Given the description of an element on the screen output the (x, y) to click on. 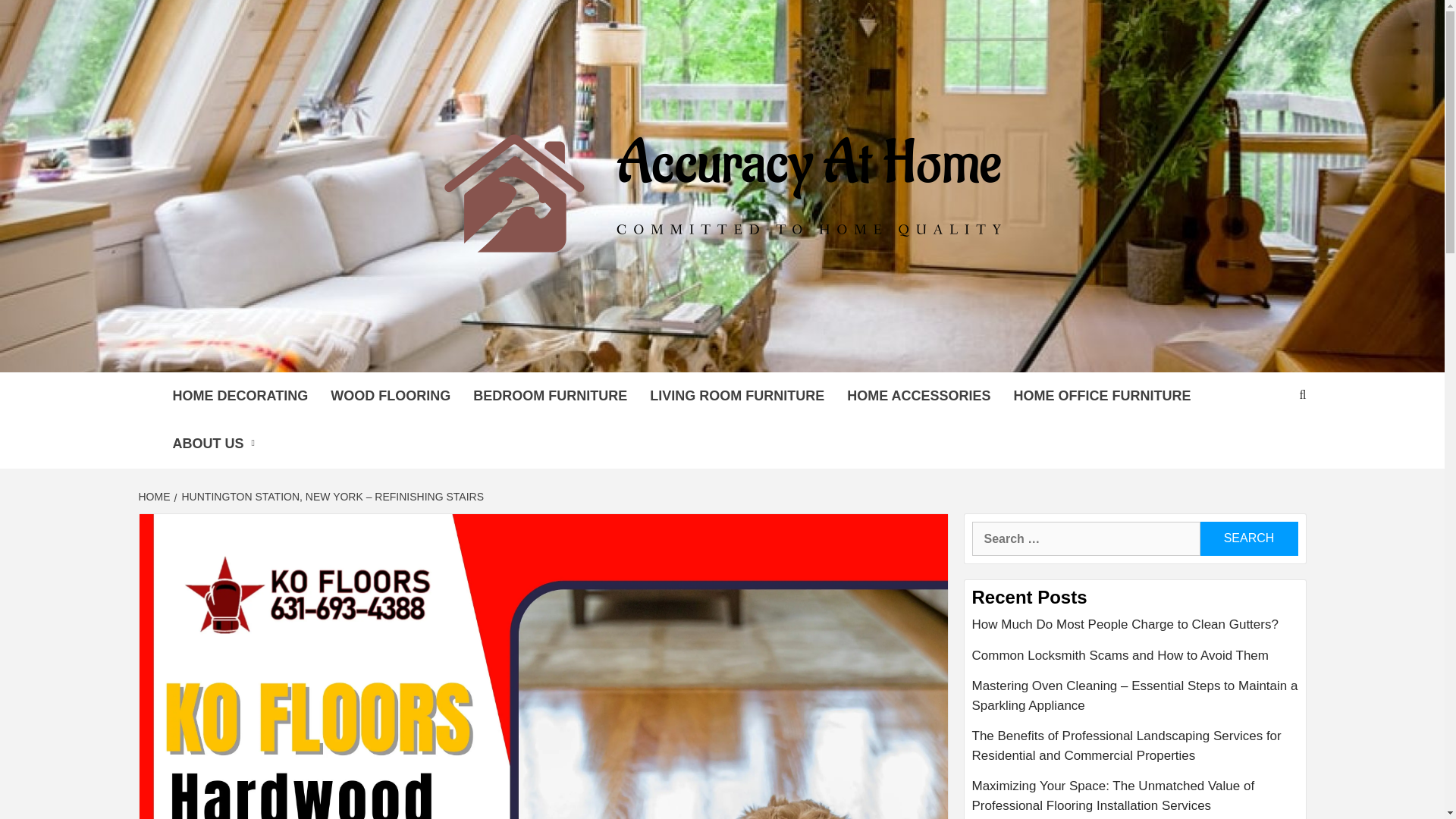
HOME DECORATING (239, 396)
ACCURACY AT HOME (539, 353)
HOME (155, 496)
HOME OFFICE FURNITURE (1102, 396)
Common Locksmith Scams and How to Avoid Them (1135, 661)
HOME ACCESSORIES (918, 396)
ABOUT US (216, 443)
How Much Do Most People Charge to Clean Gutters? (1135, 630)
Search (1248, 538)
WOOD FLOORING (389, 396)
Search (1248, 538)
Search (1248, 538)
BEDROOM FURNITURE (550, 396)
LIVING ROOM FURNITURE (737, 396)
